Given the description of an element on the screen output the (x, y) to click on. 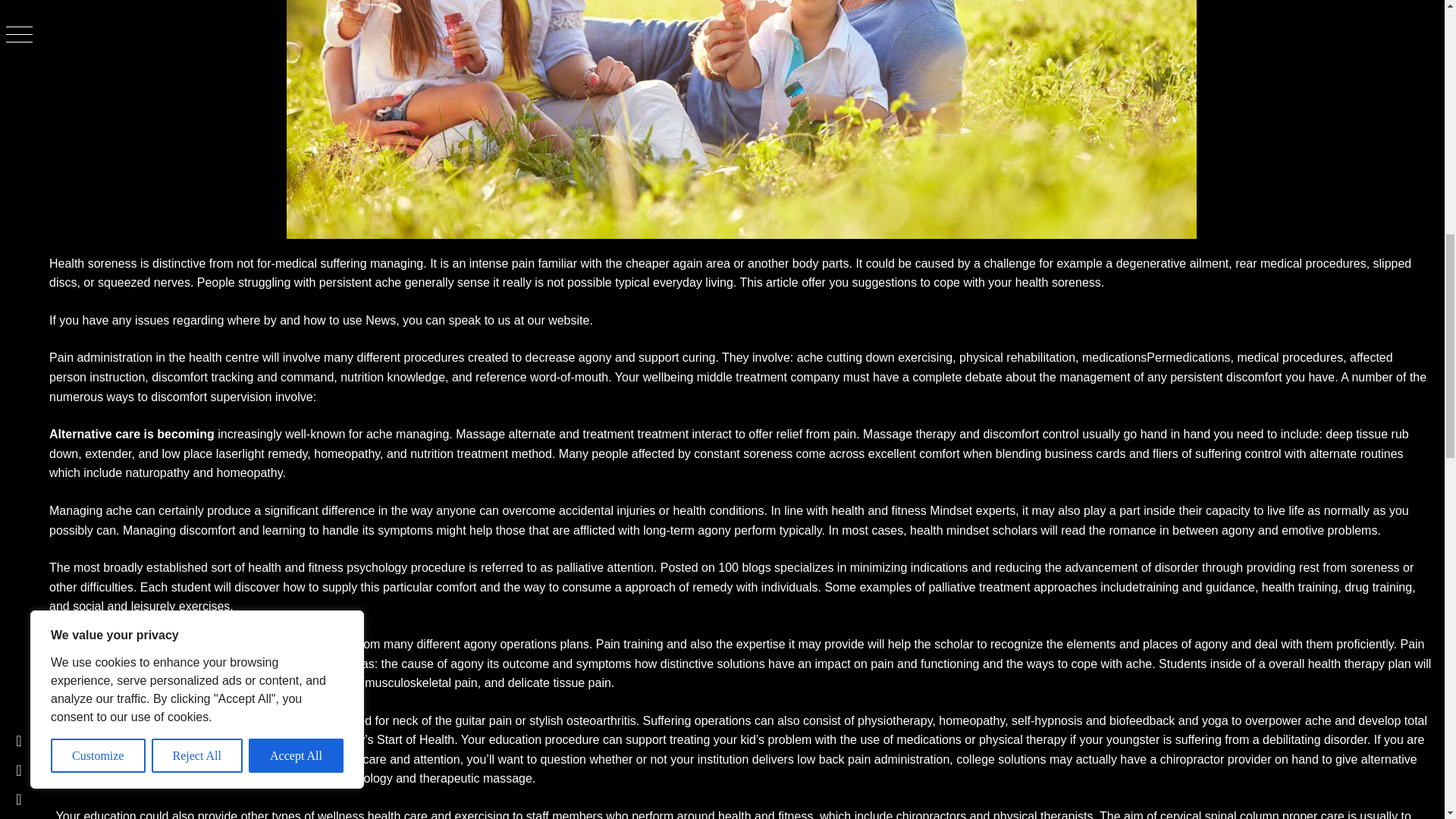
News (380, 319)
distinctive (178, 263)
company (815, 377)
